Given the description of an element on the screen output the (x, y) to click on. 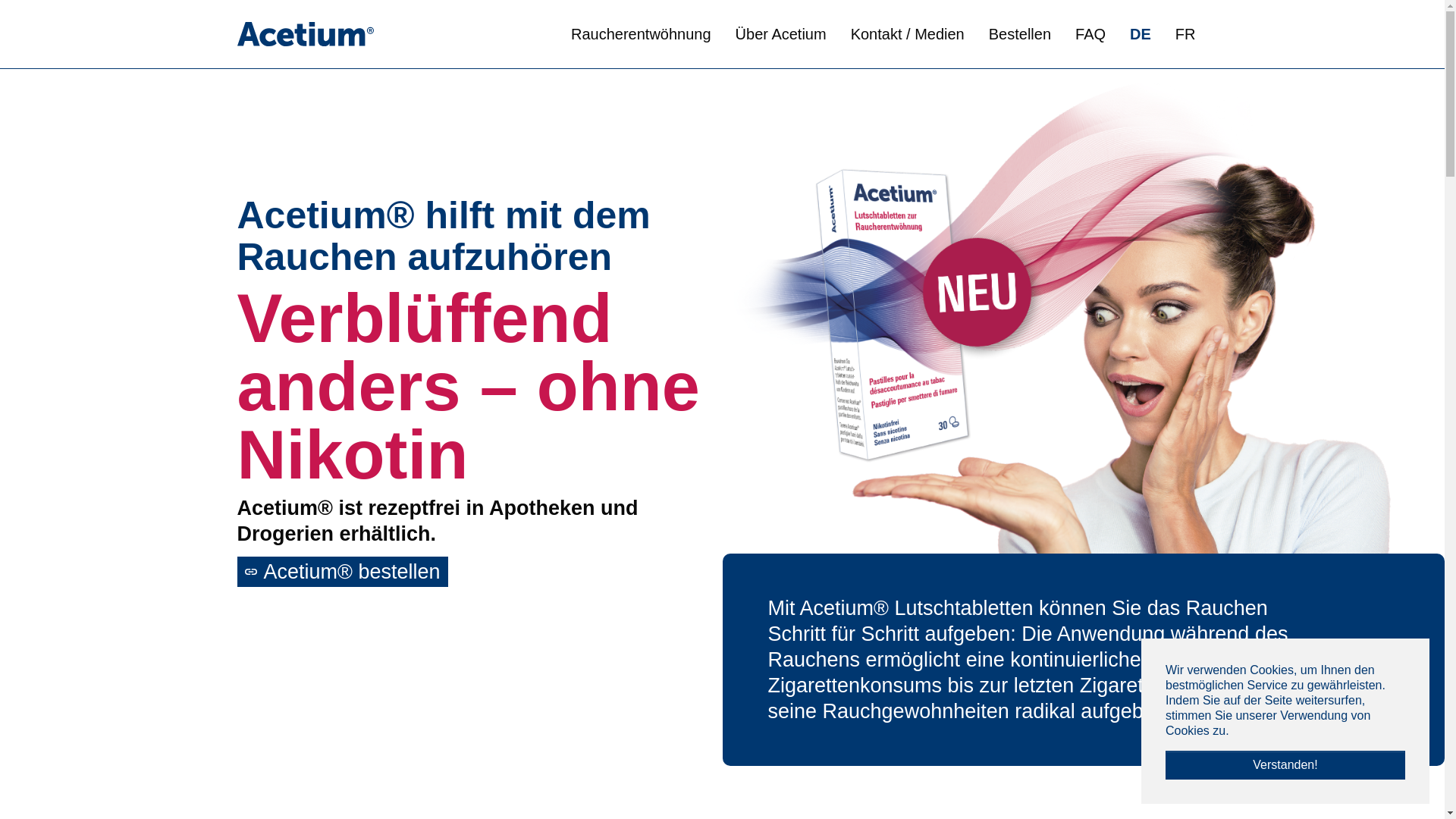
FAQ Element type: text (1090, 33)
Bestellen Element type: text (1019, 33)
Acetium Element type: hover (304, 34)
FR Element type: text (1185, 34)
DE Element type: text (1140, 34)
Kontakt / Medien Element type: text (907, 33)
Verstanden! Element type: text (1285, 764)
